Given the description of an element on the screen output the (x, y) to click on. 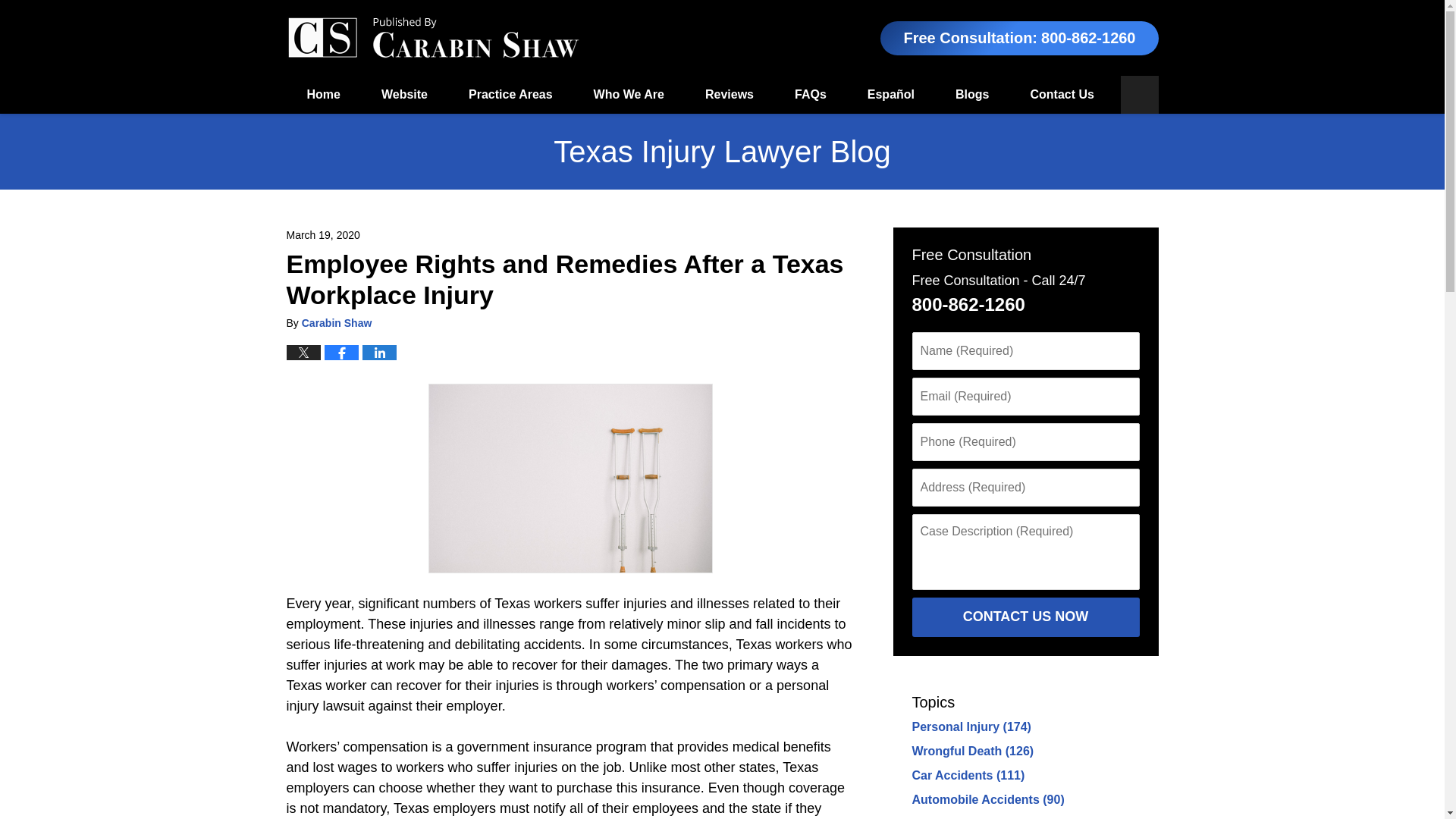
Free Consultation: 800-862-1260 (1018, 38)
Please enter a valid phone number. (1024, 442)
FAQs (810, 94)
Home (323, 94)
Website (404, 94)
Texas Injury Lawyers Blog (432, 37)
Contact Us (1061, 94)
Blogs (971, 94)
Who We Are (628, 94)
Practice Areas (510, 94)
Carabin Shaw (336, 322)
Reviews (729, 94)
